Given the description of an element on the screen output the (x, y) to click on. 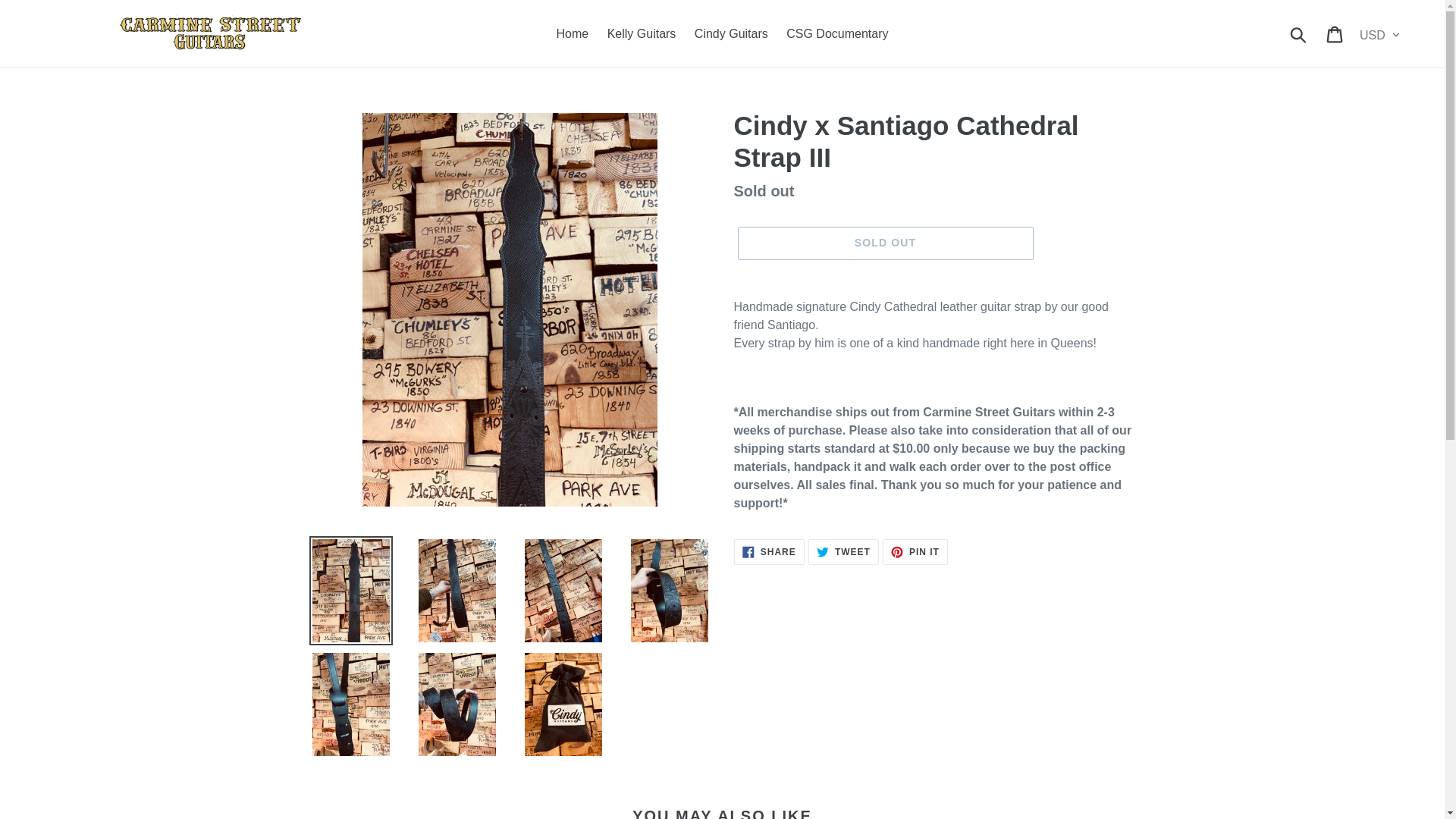
Cart (843, 551)
Home (769, 551)
Cindy Guitars (1335, 32)
Submit (914, 551)
SOLD OUT (572, 33)
CSG Documentary (731, 33)
Kelly Guitars (1299, 32)
